Given the description of an element on the screen output the (x, y) to click on. 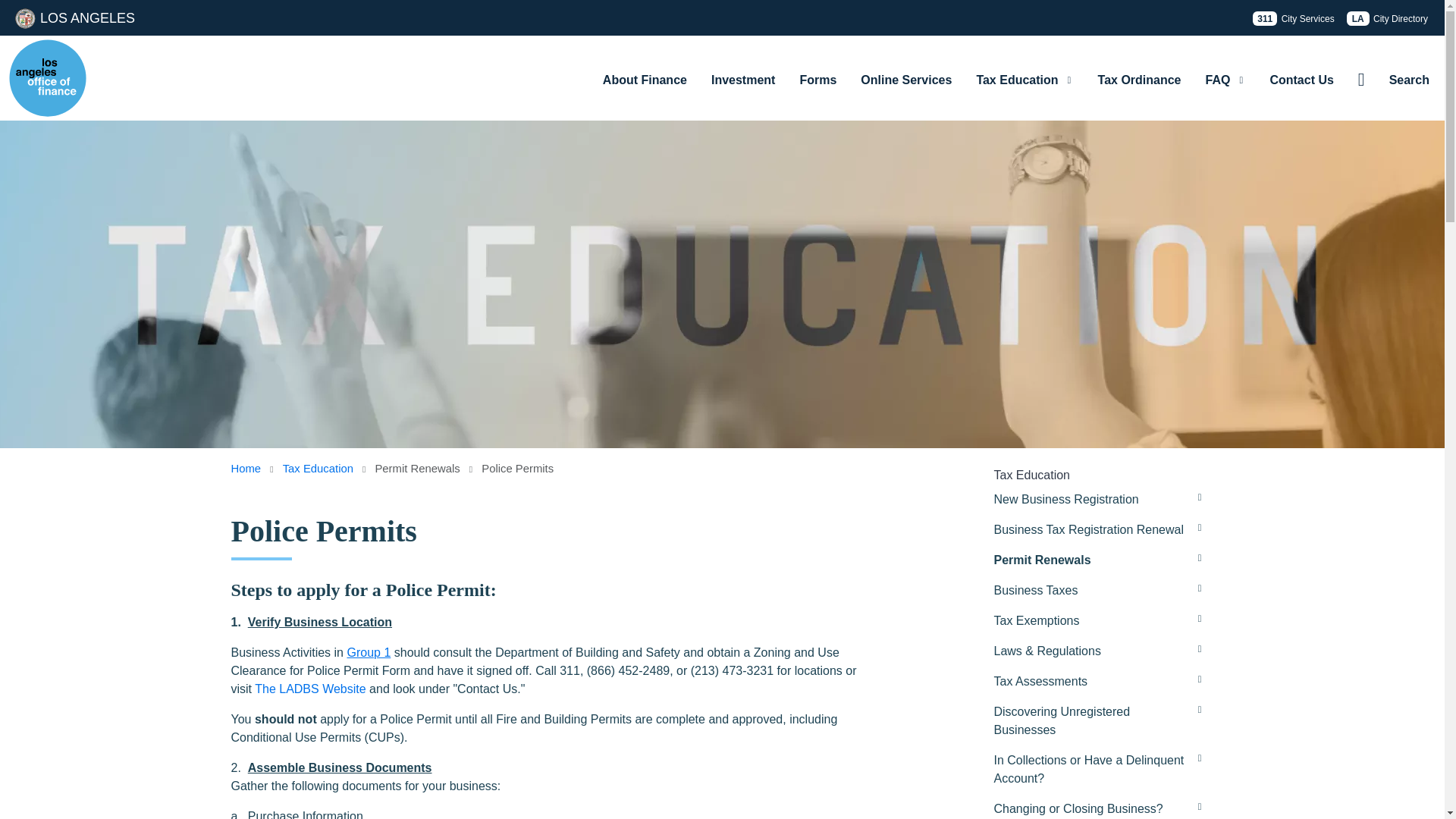
LA City Directory (1387, 18)
311 City Services (1292, 18)
Forms (817, 80)
Online Services (905, 80)
Investment (742, 80)
Home (46, 76)
About Finance (644, 80)
